Given the description of an element on the screen output the (x, y) to click on. 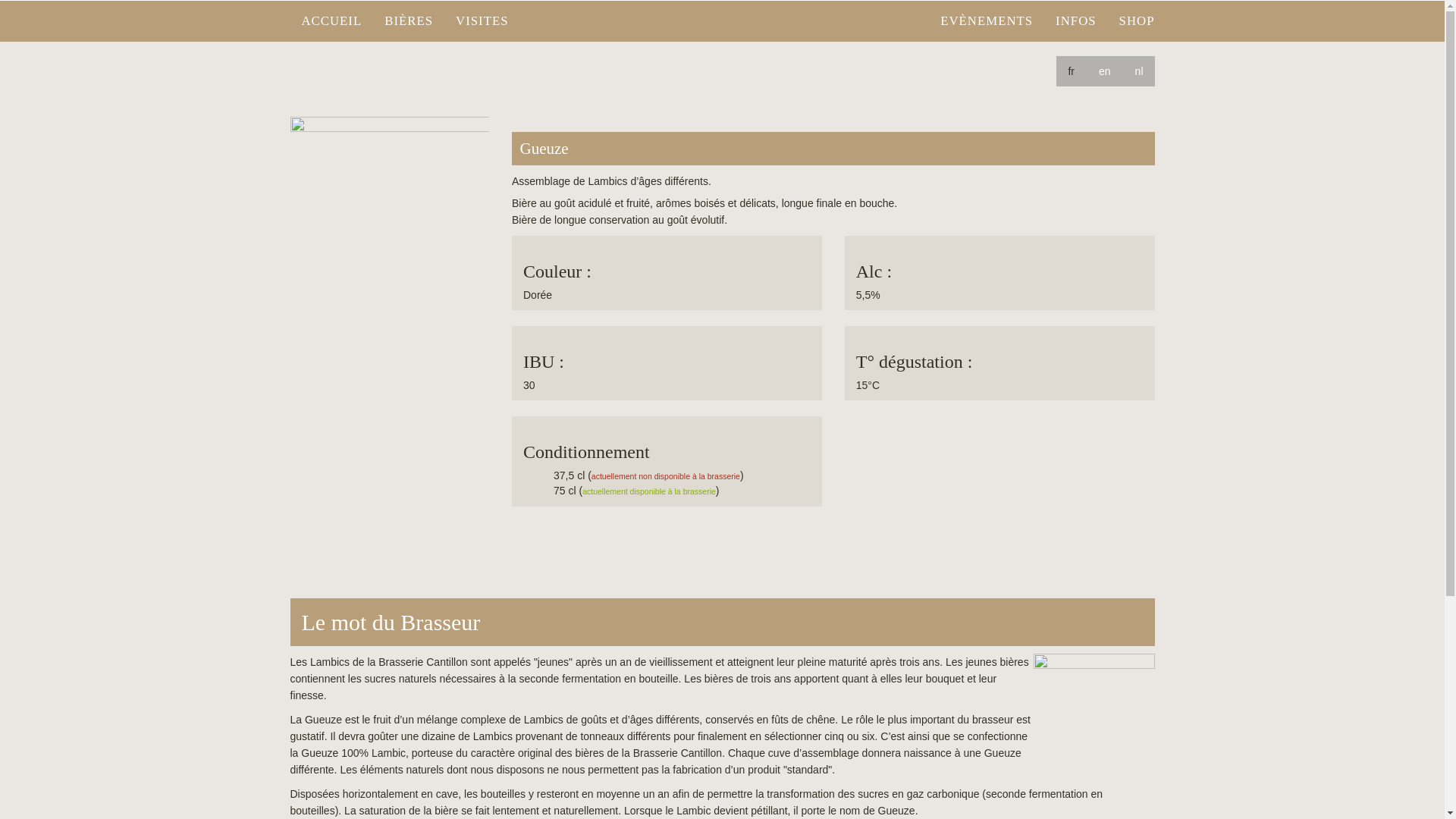
SHOP Element type: text (1136, 20)
VISITES Element type: text (481, 20)
en Element type: text (1104, 71)
ACCUEIL Element type: text (331, 20)
nl Element type: text (1138, 71)
INFOS Element type: text (1075, 20)
fr Element type: text (1070, 71)
